Given the description of an element on the screen output the (x, y) to click on. 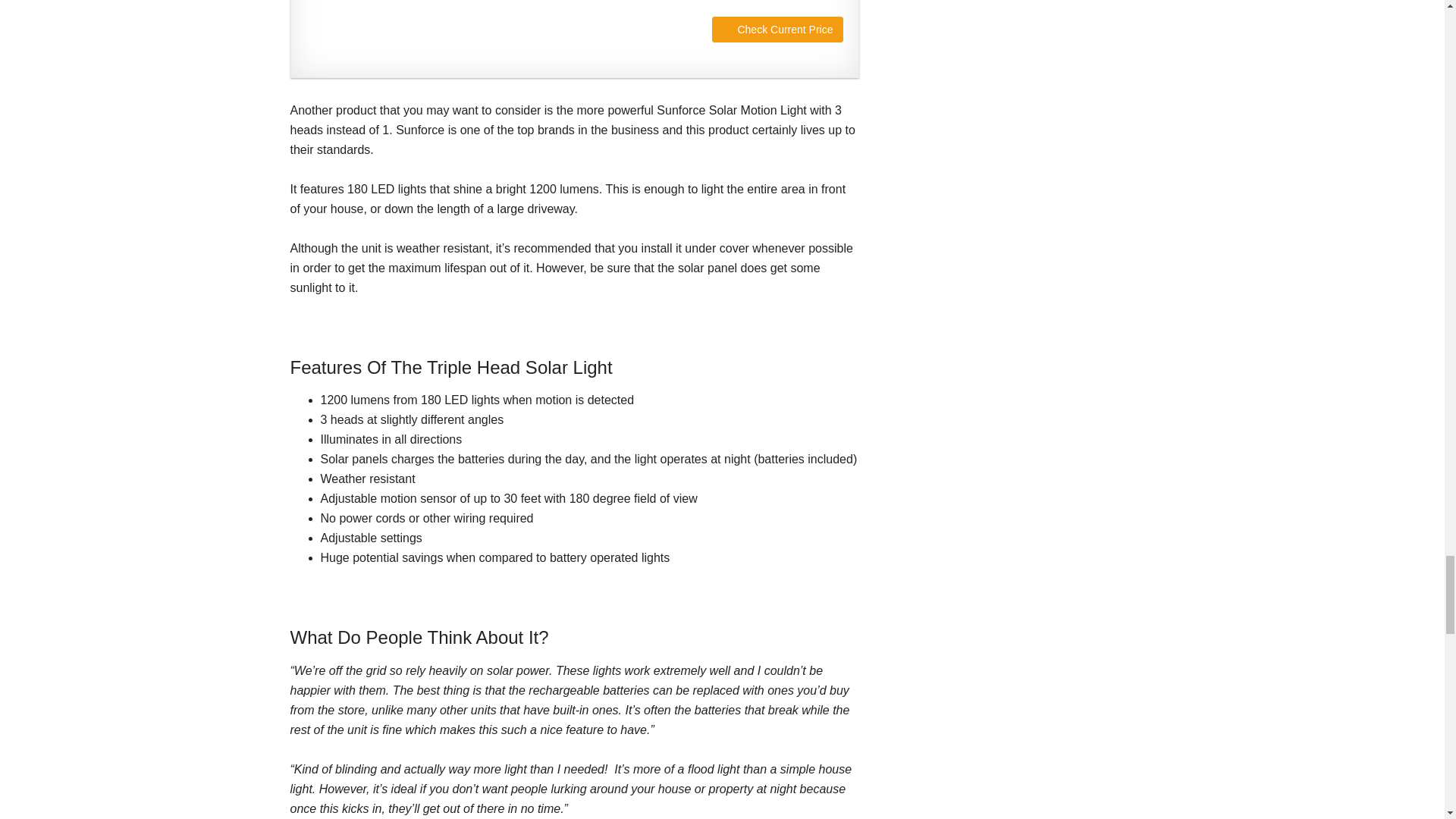
Check Current Price (777, 29)
Check Current Price (777, 29)
